Given the description of an element on the screen output the (x, y) to click on. 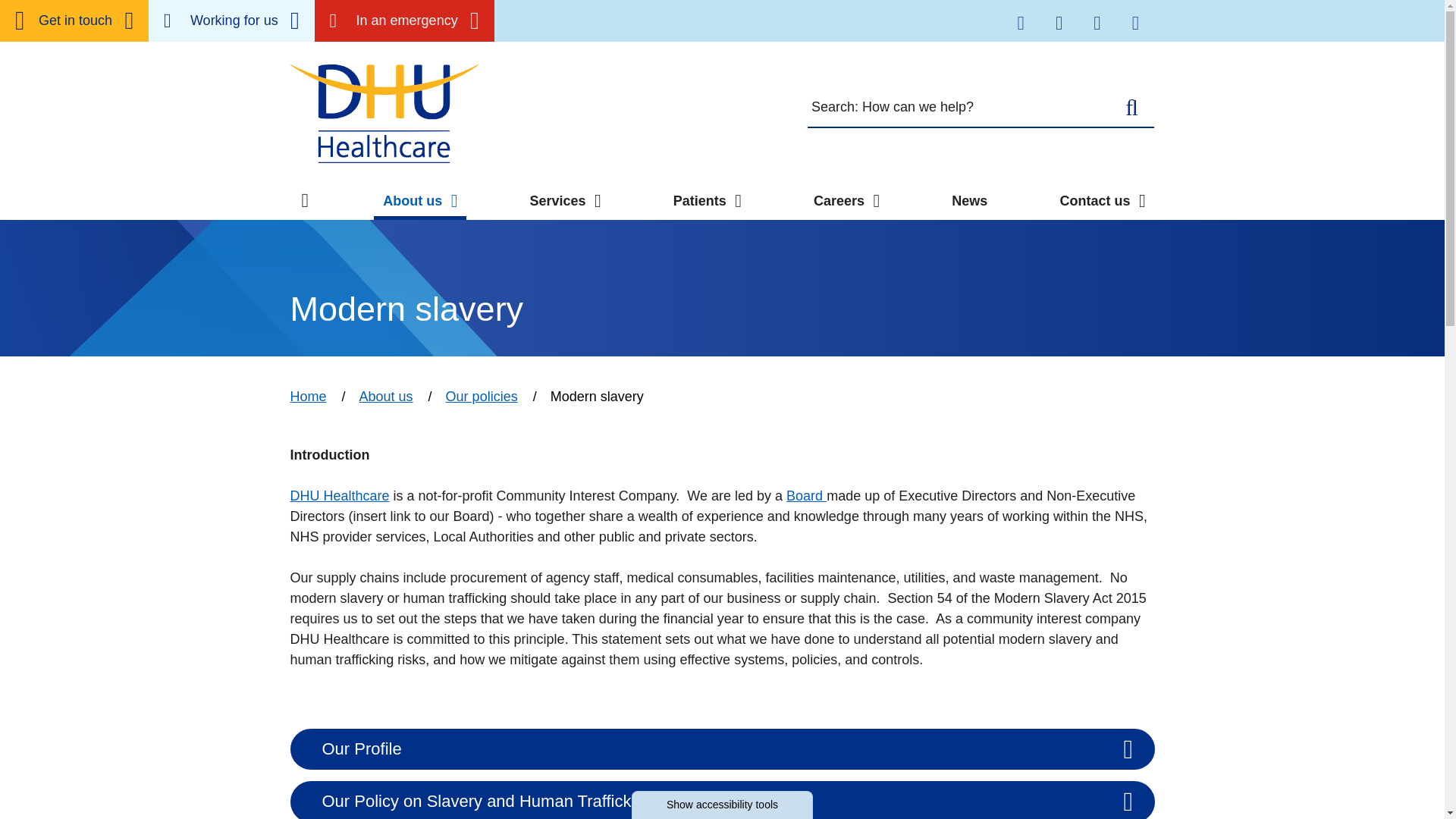
National fraud initiative (676, 36)
Twitter (1020, 20)
DHU Healthcare Homepage (383, 112)
In an emergency (404, 20)
Strategy: Our vision, mission and values (435, 15)
Working for us (231, 20)
Our Strategies and Plans (389, 44)
In an emergency (404, 20)
About us (419, 200)
LinkedIn (1097, 20)
LinkedIn (1097, 22)
Facebook (1058, 20)
Get in touch (74, 20)
Contact us (74, 20)
Careers (231, 20)
